Given the description of an element on the screen output the (x, y) to click on. 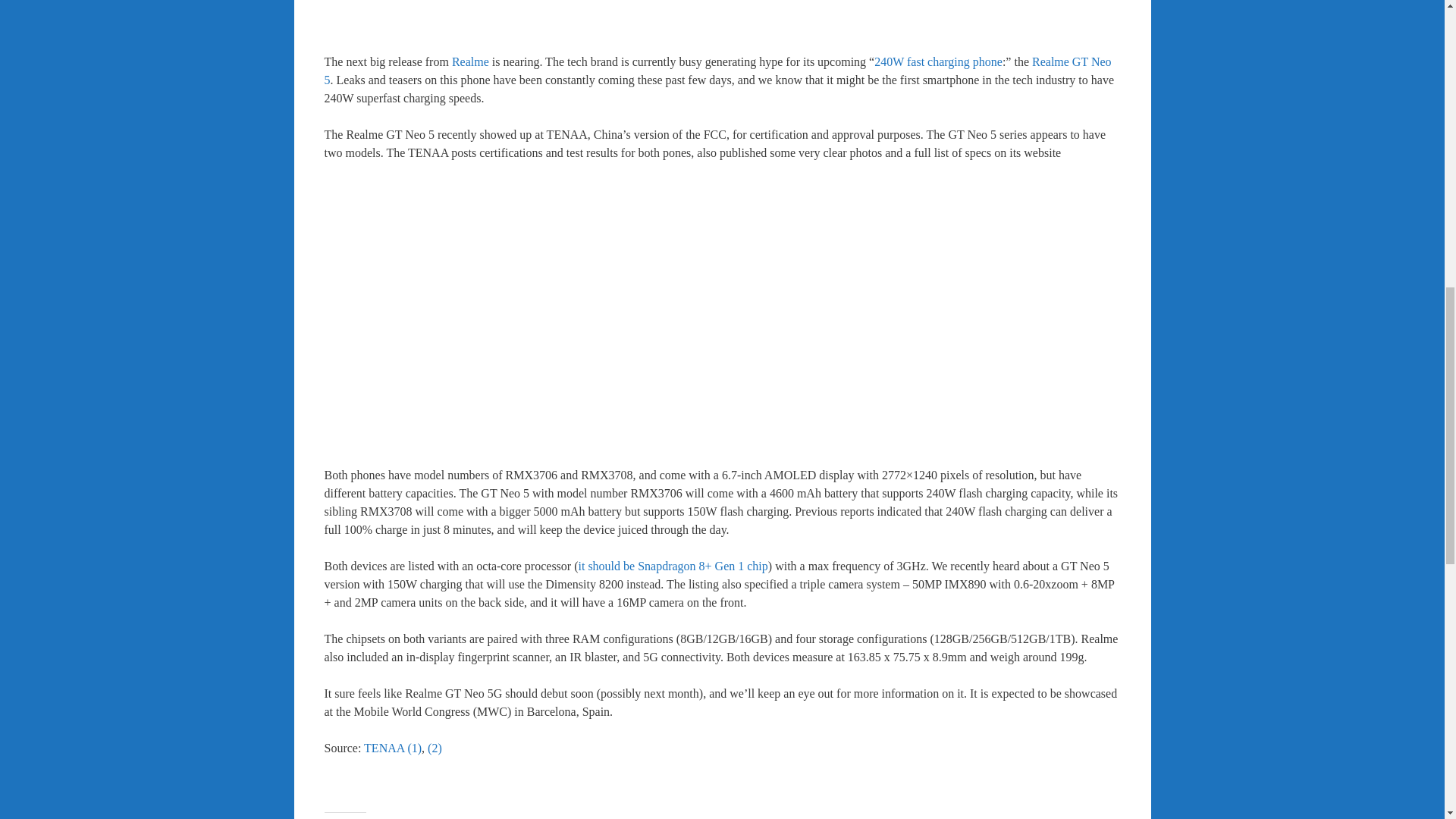
Scroll back to top (1406, 720)
Realme GT Neo 5 (718, 70)
Realme (470, 61)
240W fast charging phone (939, 61)
